Given the description of an element on the screen output the (x, y) to click on. 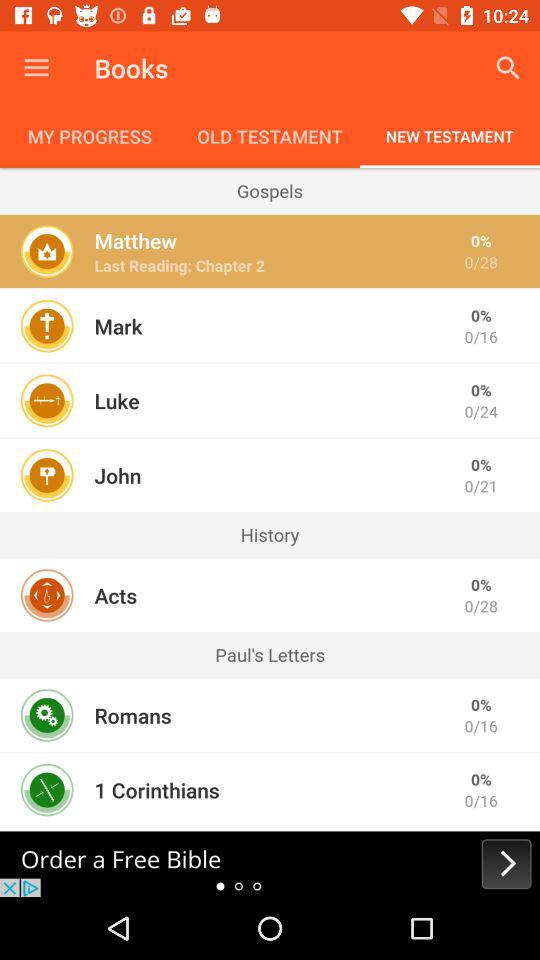
turn off item to the left of 0/28 (179, 265)
